Given the description of an element on the screen output the (x, y) to click on. 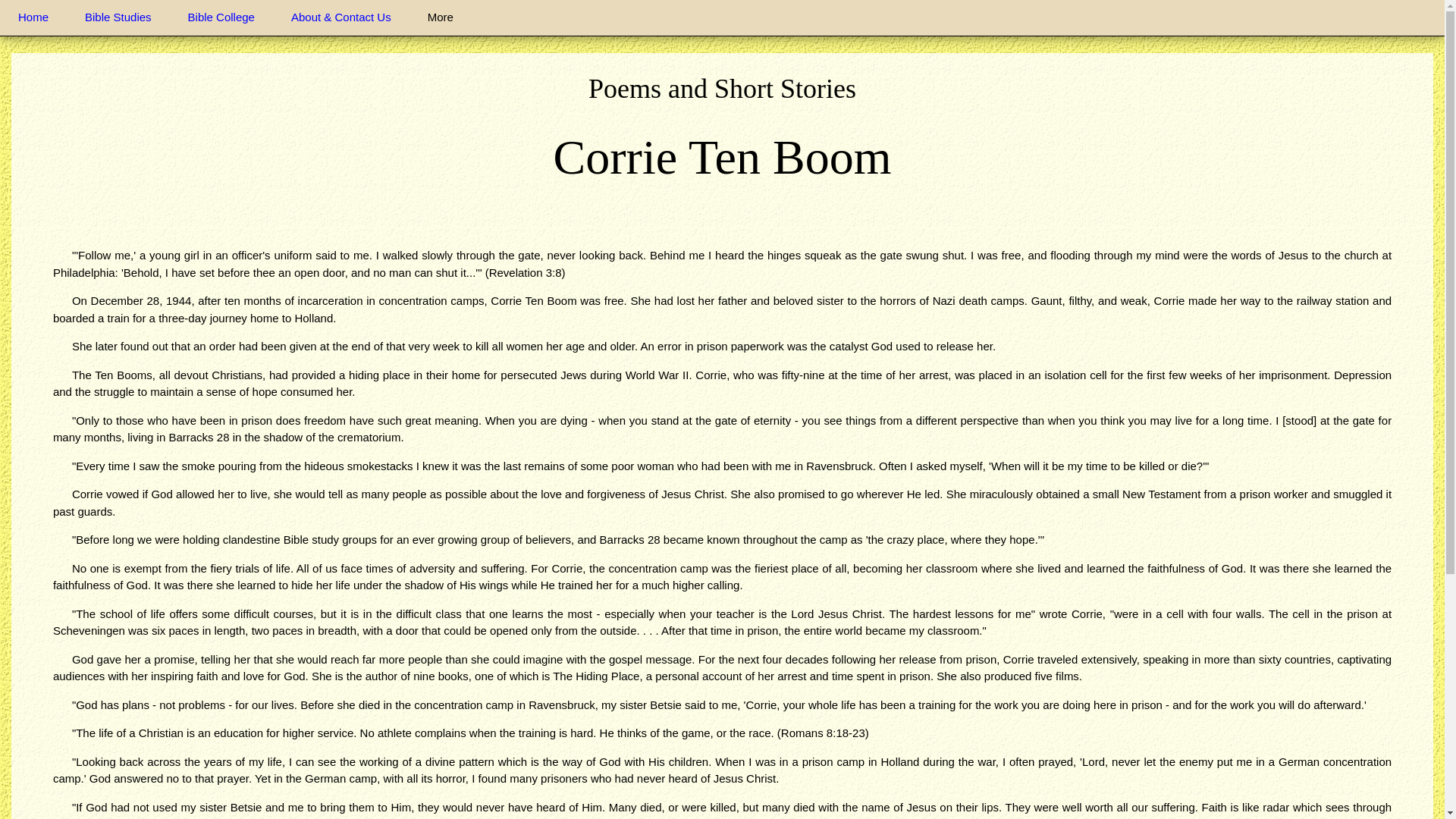
More (440, 18)
Home (33, 18)
Bible Studies (118, 18)
More (440, 18)
Bible College (221, 18)
